Given the description of an element on the screen output the (x, y) to click on. 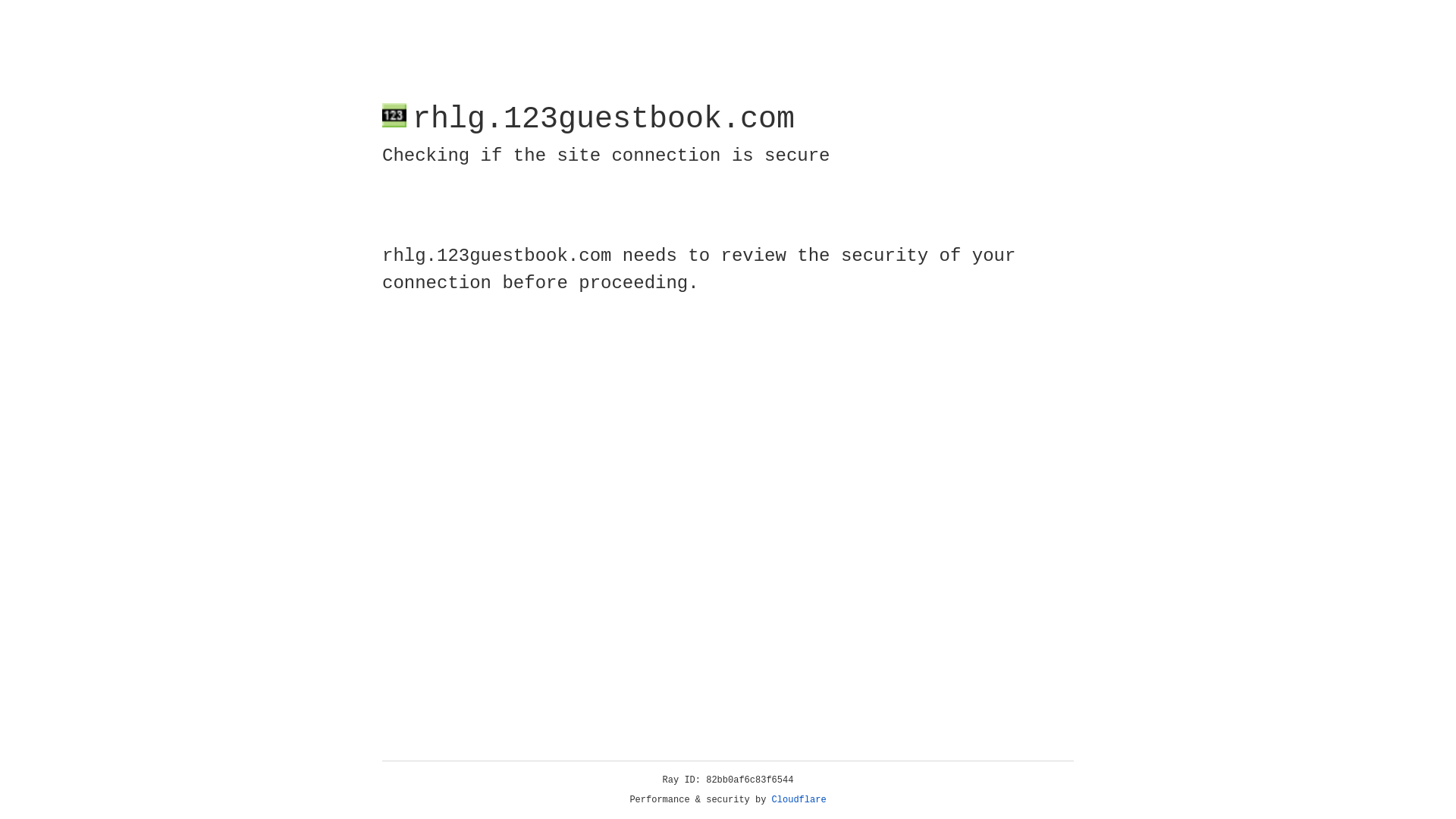
Cloudflare Element type: text (798, 799)
